Given the description of an element on the screen output the (x, y) to click on. 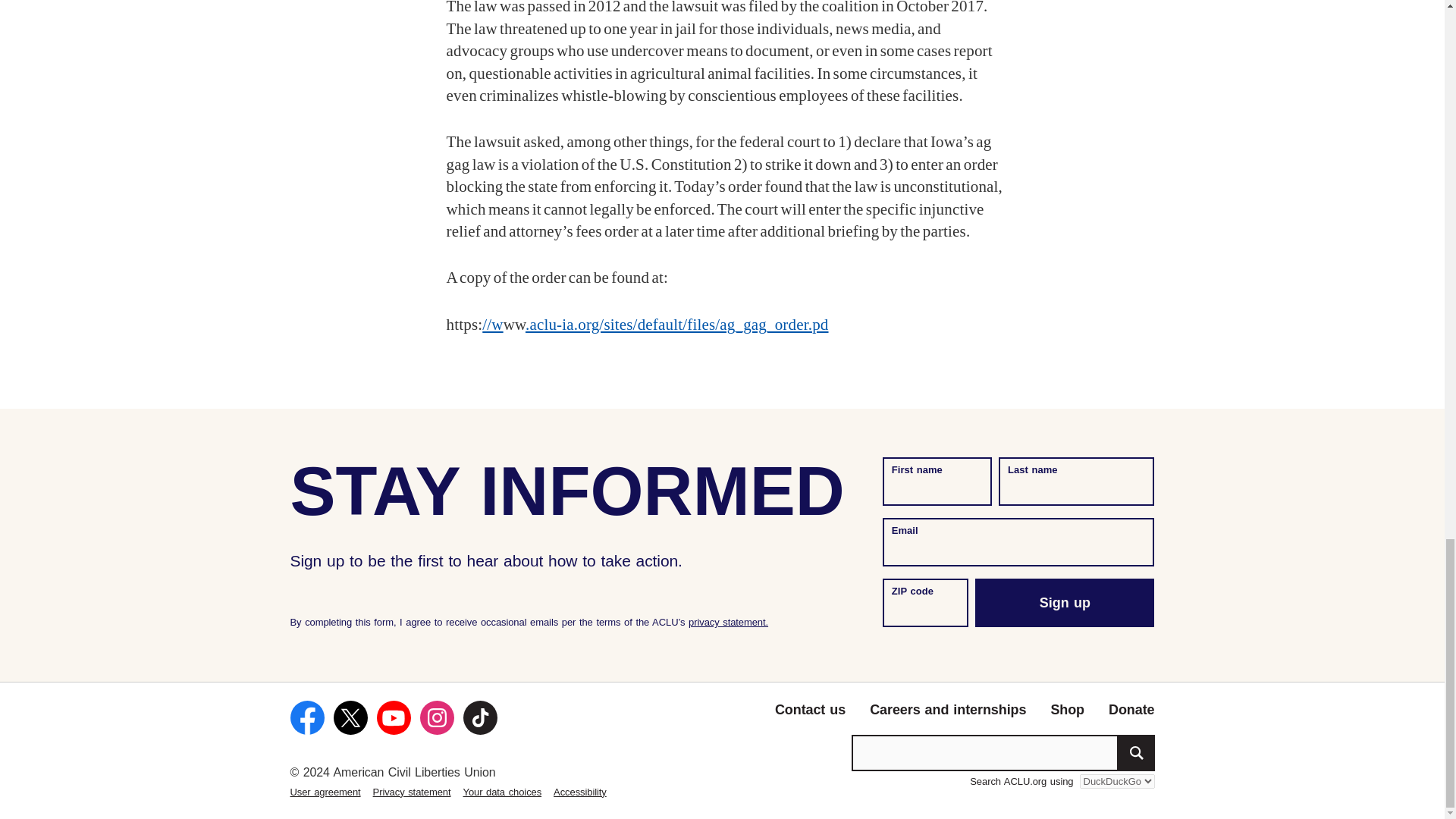
Follow the ACLU on X (350, 717)
search (1136, 752)
Follow the ACLU on YouTube (392, 717)
Follow the ACLU on Instagram (437, 717)
Follow the ACLU on Facebook (306, 717)
Follow the ACLU on TikTok (479, 717)
